Given the description of an element on the screen output the (x, y) to click on. 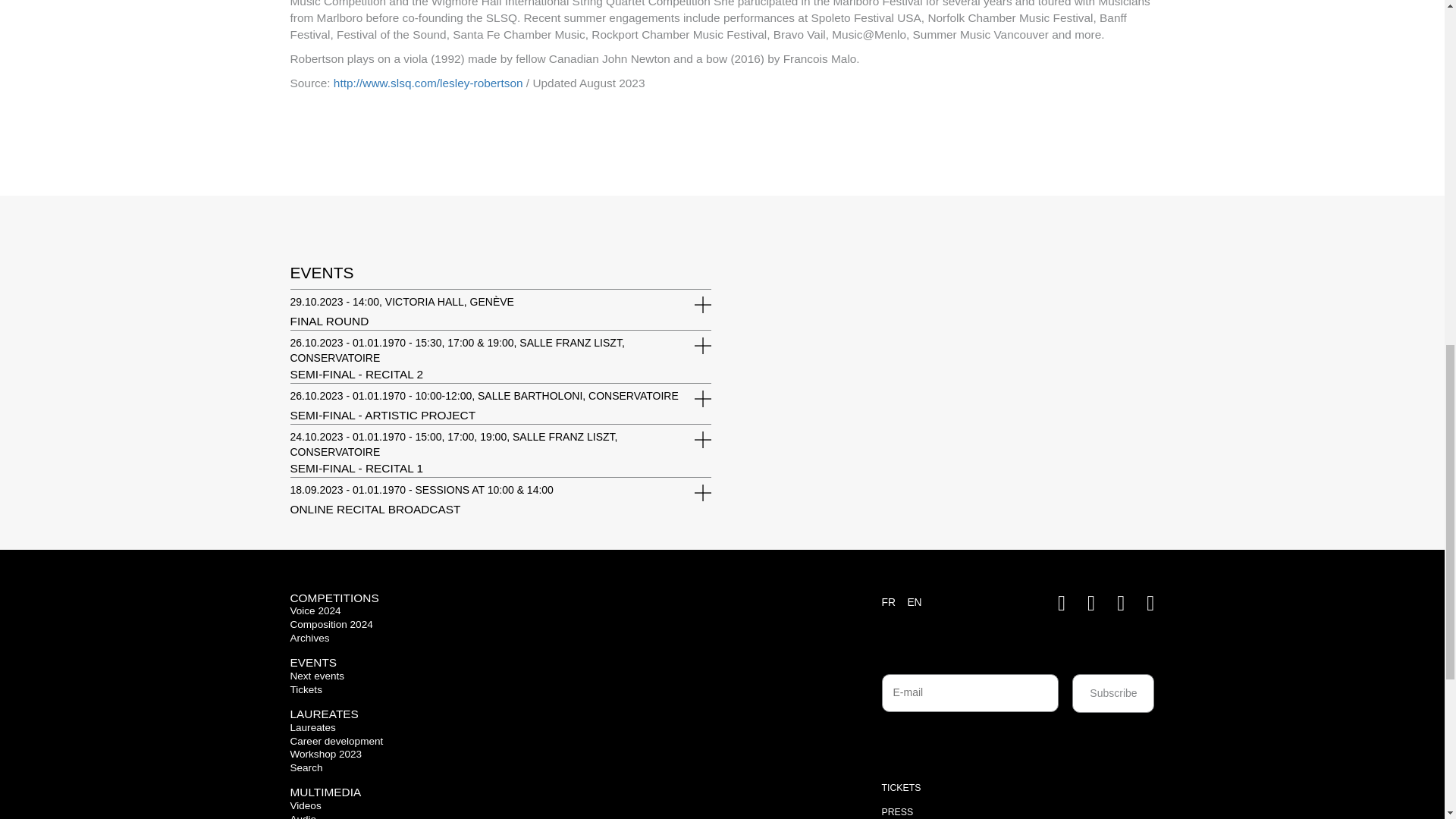
Subscribe (1112, 693)
